Given the description of an element on the screen output the (x, y) to click on. 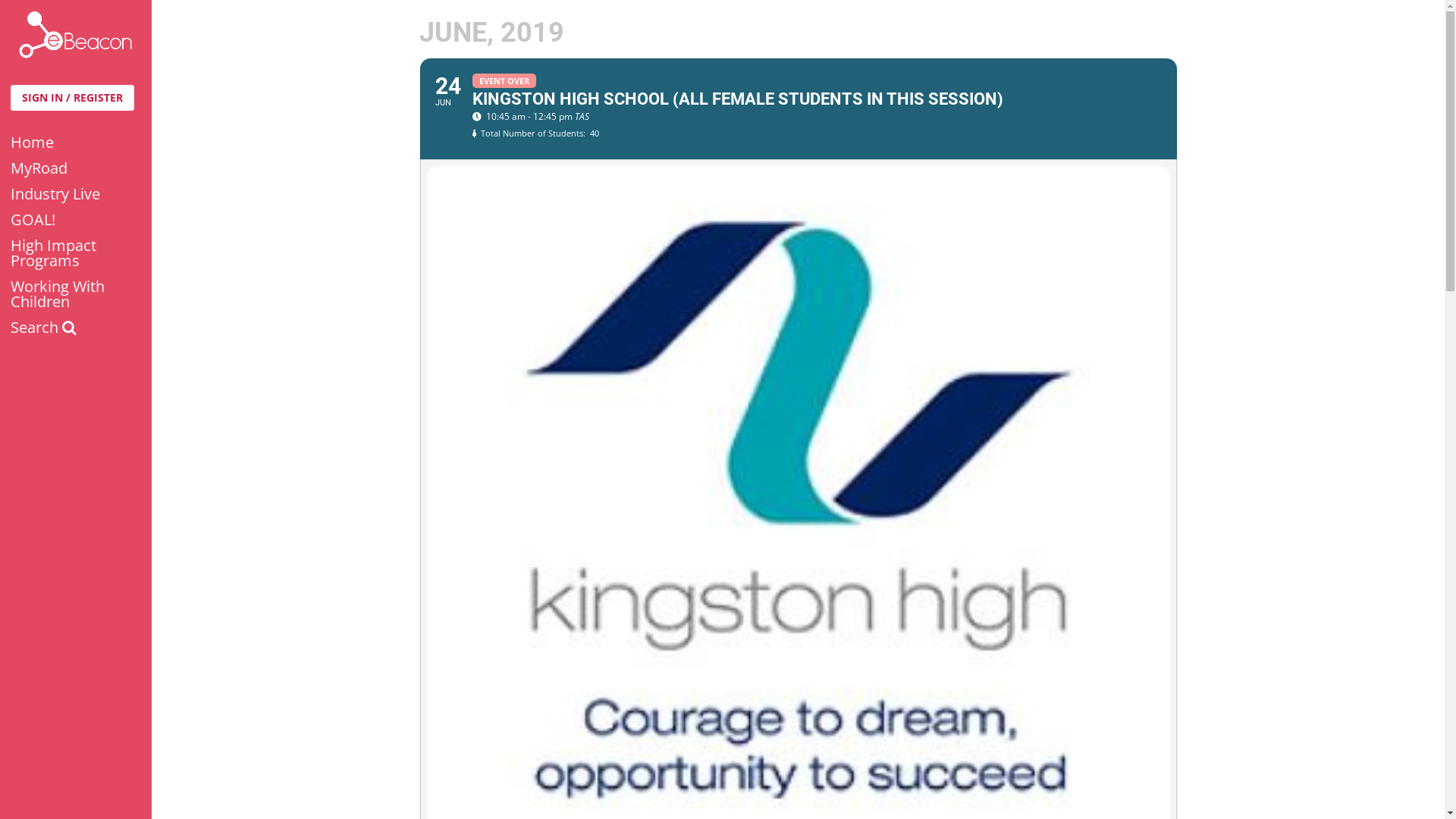
High Impact Programs Element type: text (75, 252)
Industry Live Element type: text (75, 194)
Search Element type: text (75, 327)
SIGN IN / REGISTER Element type: text (72, 97)
eBeacon Element type: text (75, 34)
Home Element type: text (75, 142)
Working With Children Element type: text (75, 293)
MyRoad Element type: text (75, 168)
GOAL! Element type: text (75, 219)
